Given the description of an element on the screen output the (x, y) to click on. 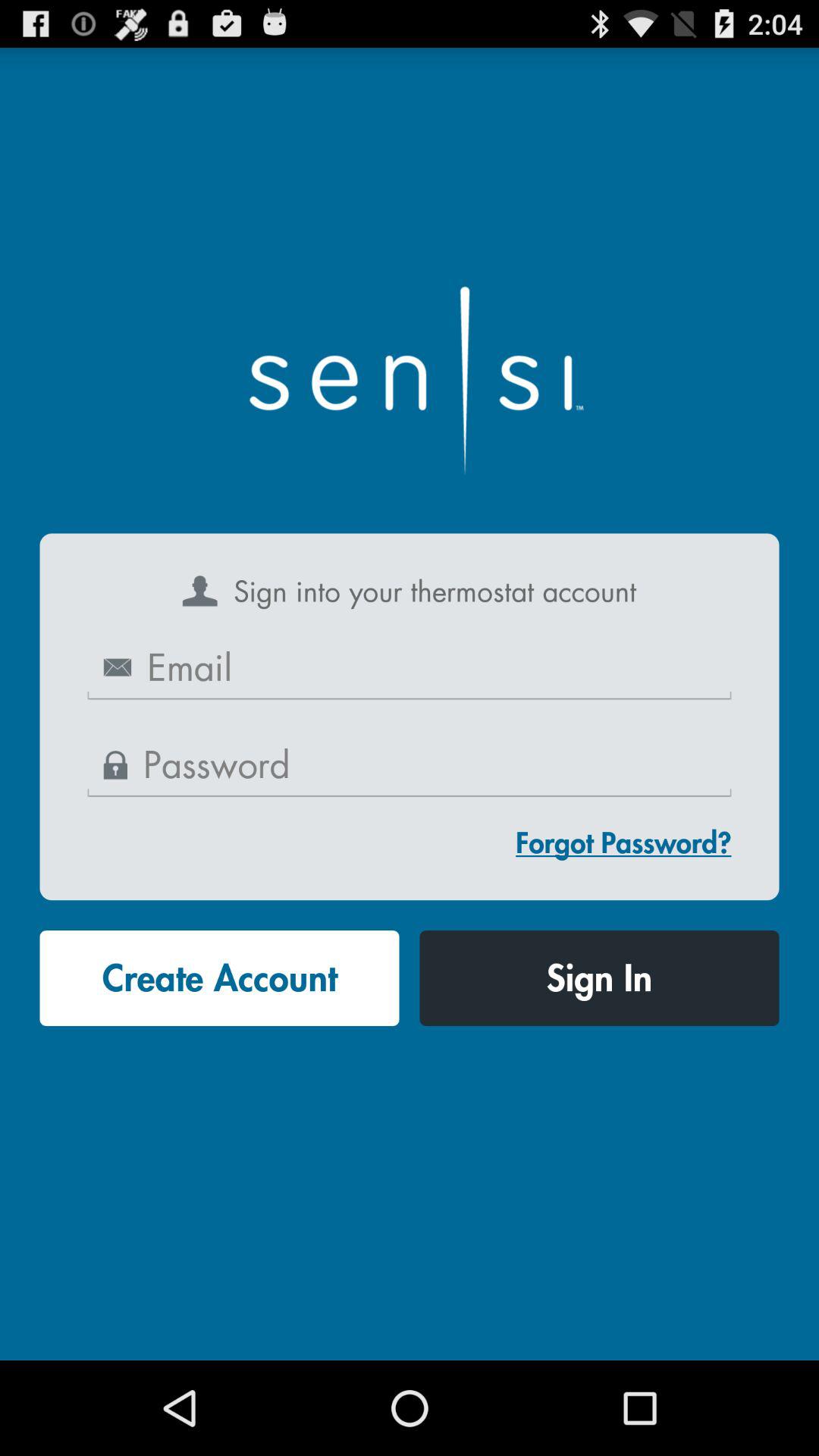
launch the icon to the left of the sign in item (219, 978)
